Given the description of an element on the screen output the (x, y) to click on. 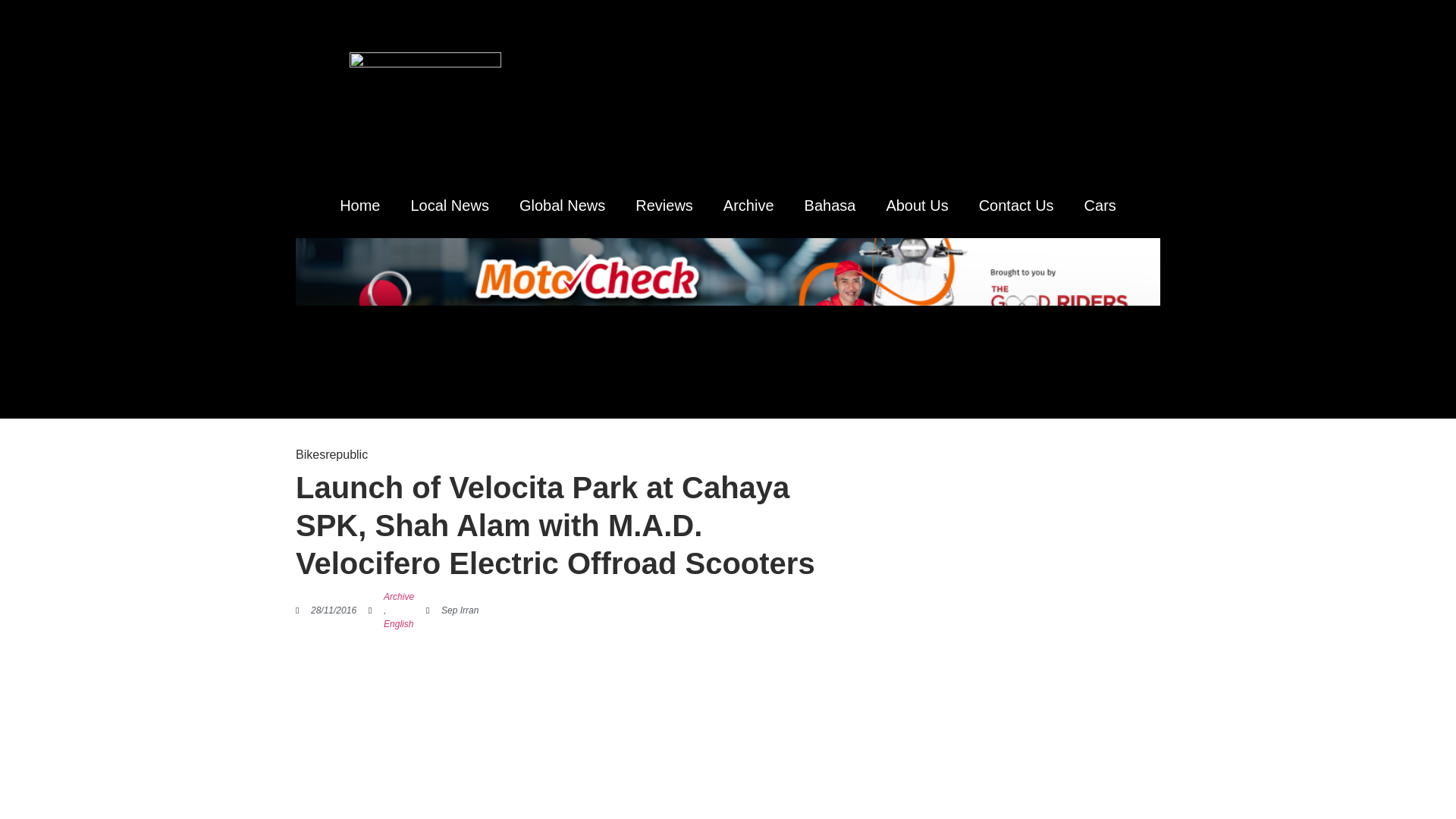
Local News (449, 205)
About Us (916, 205)
Archive (398, 596)
Home (359, 205)
Cars (1099, 205)
Bahasa (829, 205)
English (398, 623)
Reviews (663, 205)
Global News (561, 205)
Sep Irran (452, 610)
